Given the description of an element on the screen output the (x, y) to click on. 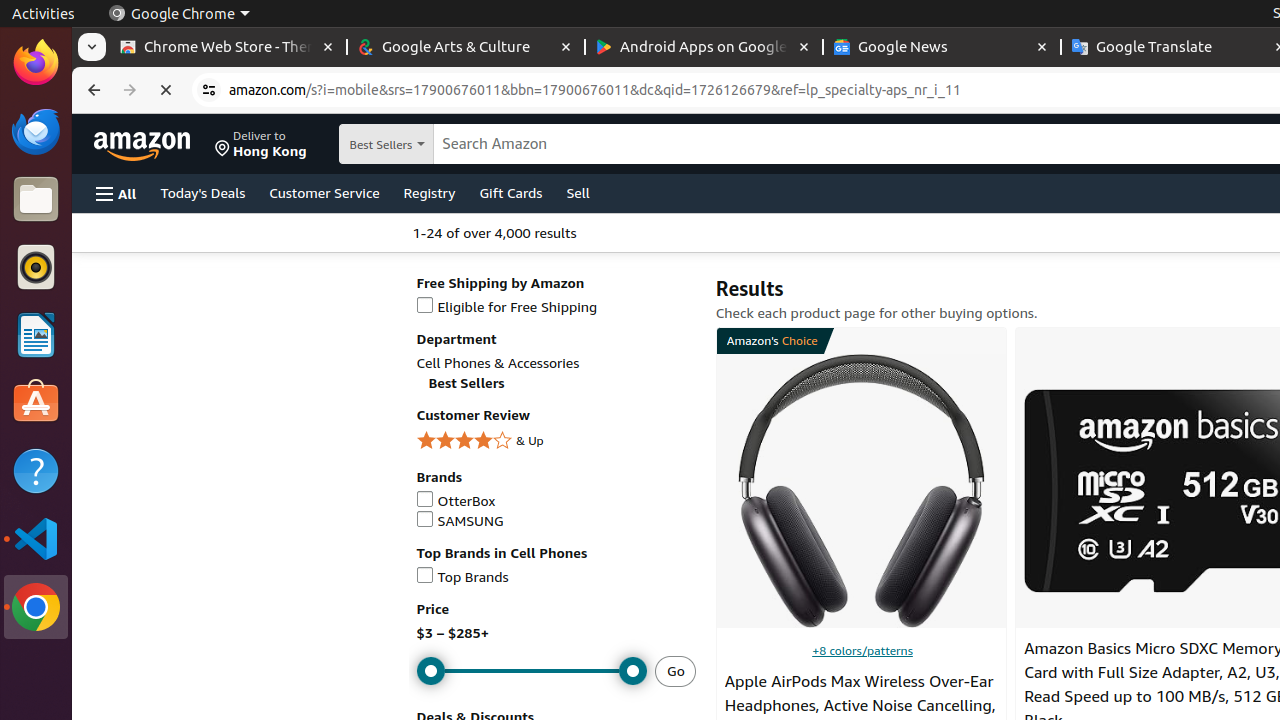
Apple AirPods Max Wireless Over-Ear Headphones, Active Noise Cancelling, Transparency Mode, Personalized Spatial Audio, Do... Element type: link (861, 491)
Forward Element type: push-button (130, 90)
View site information Element type: push-button (209, 90)
